Given the description of an element on the screen output the (x, y) to click on. 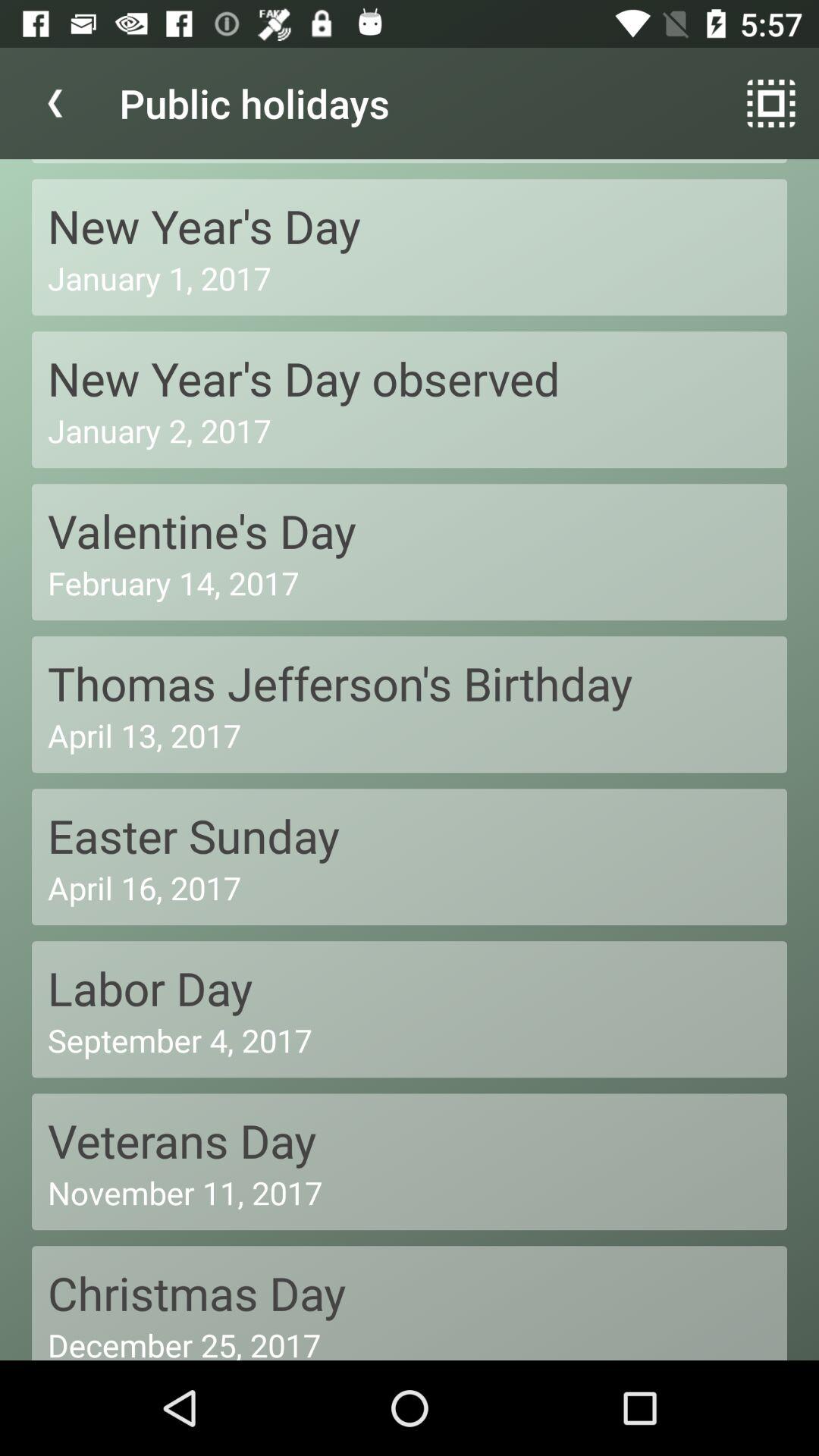
flip to the november 11, 2017 (409, 1192)
